Given the description of an element on the screen output the (x, y) to click on. 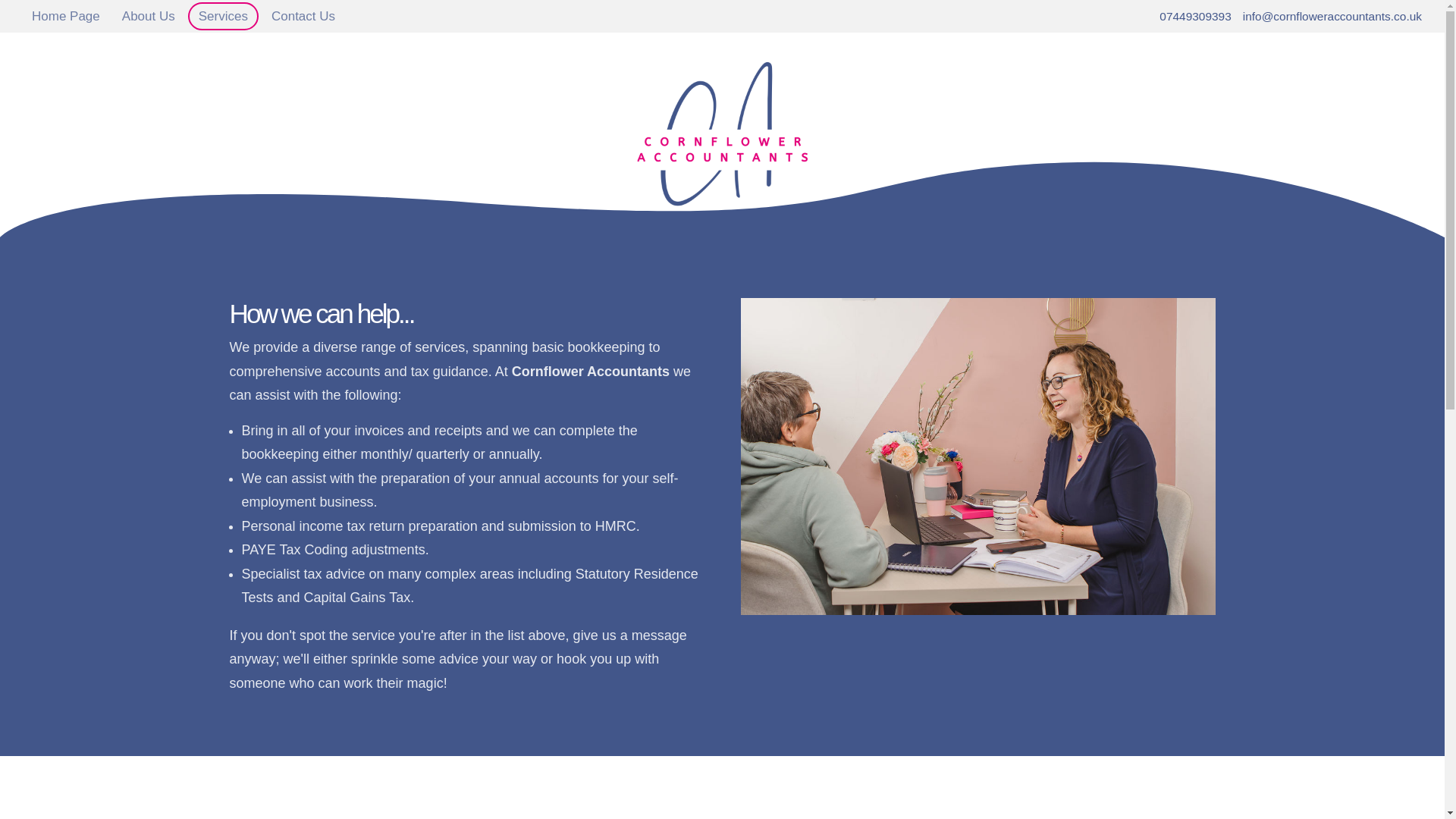
About Us (148, 16)
07449309393 (1194, 15)
Services (223, 16)
Contact Us (302, 16)
Home Page (66, 16)
